Given the description of an element on the screen output the (x, y) to click on. 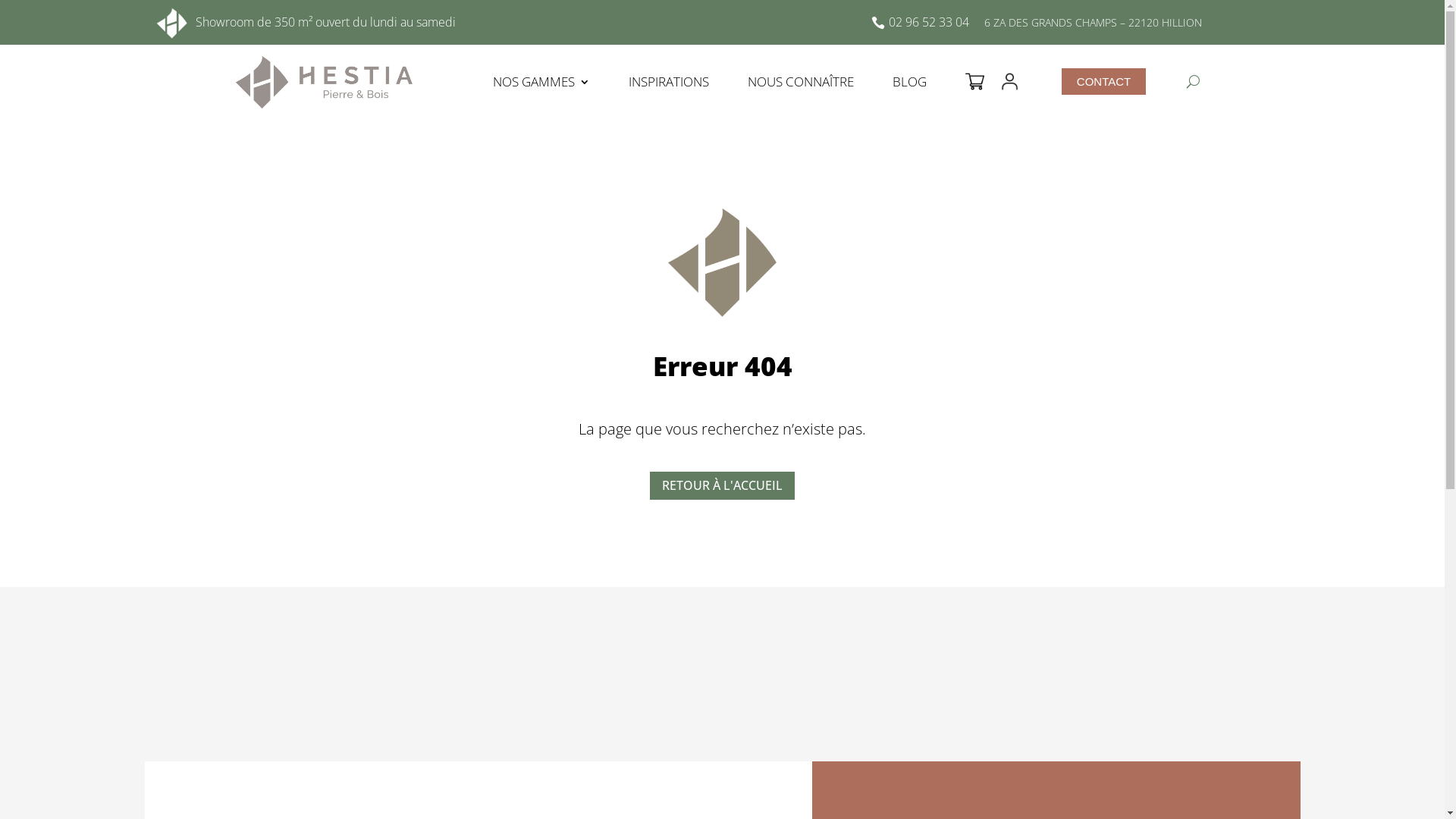
BLOG Element type: text (909, 81)
INSPIRATIONS Element type: text (668, 81)
NOS GAMMES Element type: text (540, 81)
icone-hestia-pierre-et-bois-blanc Element type: hover (172, 22)
cropped-favicon-hestia.png Element type: hover (721, 262)
CONTACT Element type: text (1103, 81)
